Given the description of an element on the screen output the (x, y) to click on. 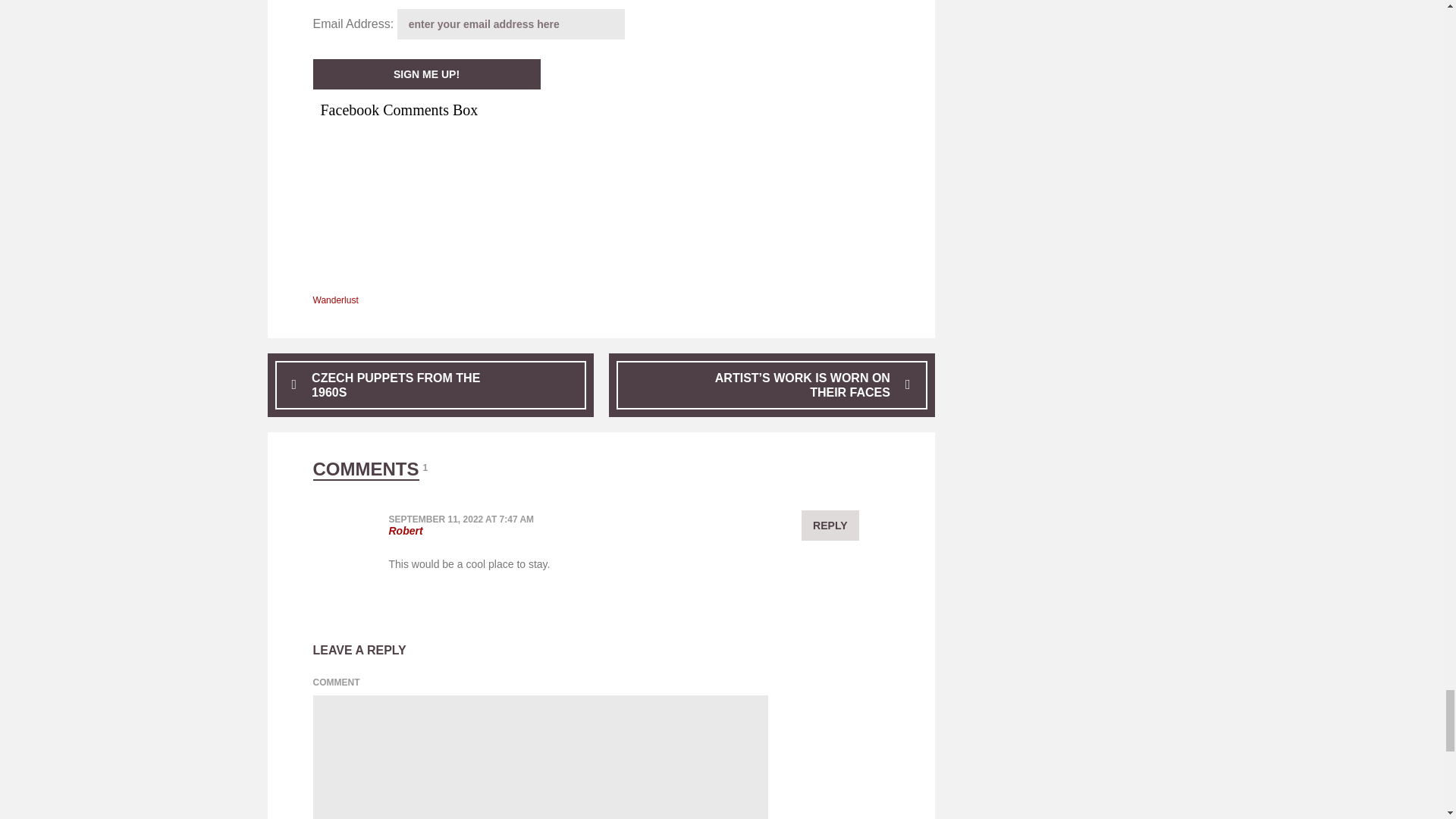
SIGN ME UP! (426, 73)
